Given the description of an element on the screen output the (x, y) to click on. 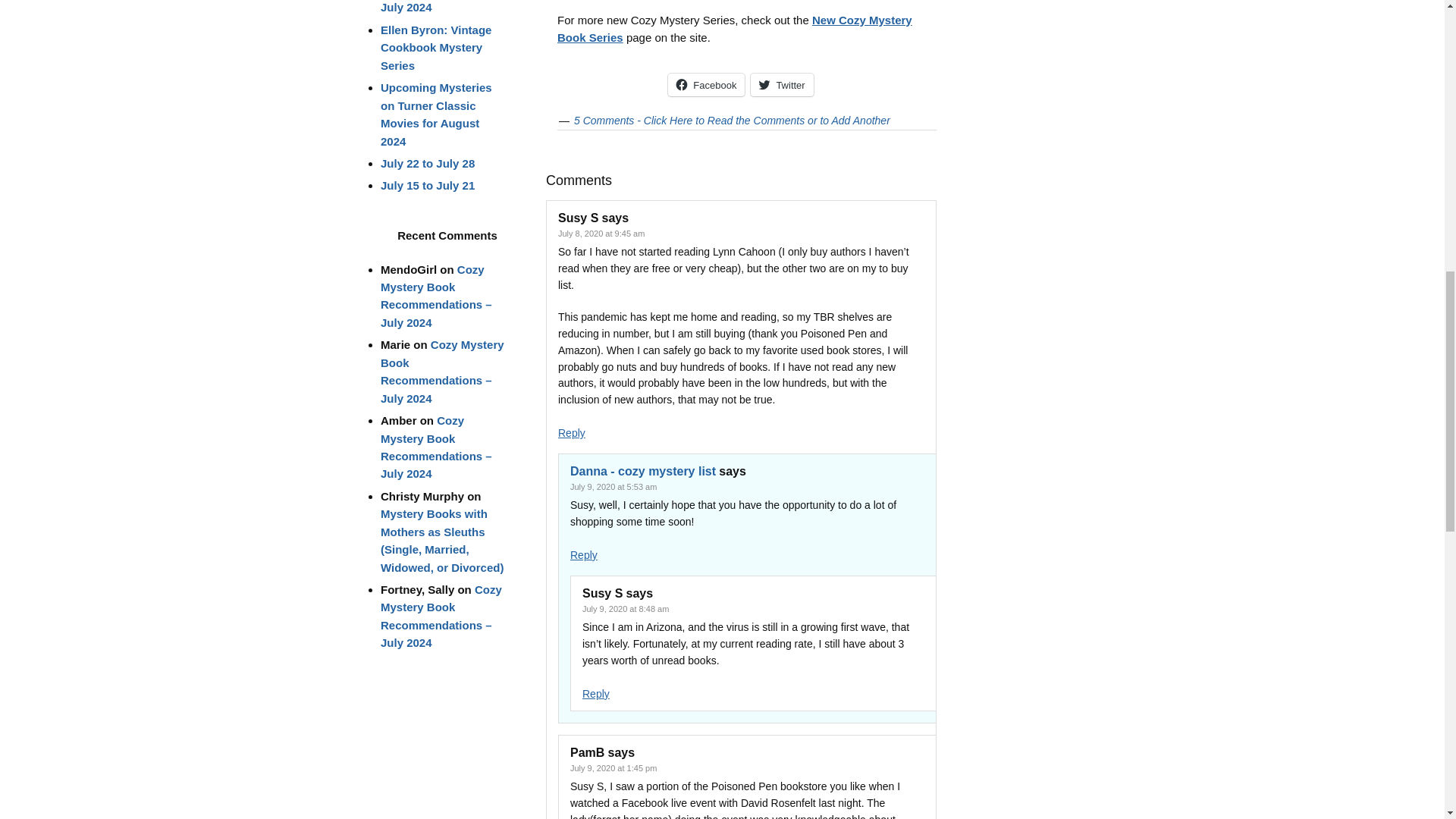
Reply (583, 554)
Click to share on Facebook (706, 84)
July 9, 2020 at 8:48 am (625, 608)
Reply (596, 693)
July 9, 2020 at 5:53 am (613, 486)
July 9, 2020 at 1:45 pm (613, 768)
July 8, 2020 at 9:45 am (601, 233)
Click to share on Twitter (781, 84)
New Cozy Mystery Book Series (734, 28)
Facebook (706, 84)
